Given the description of an element on the screen output the (x, y) to click on. 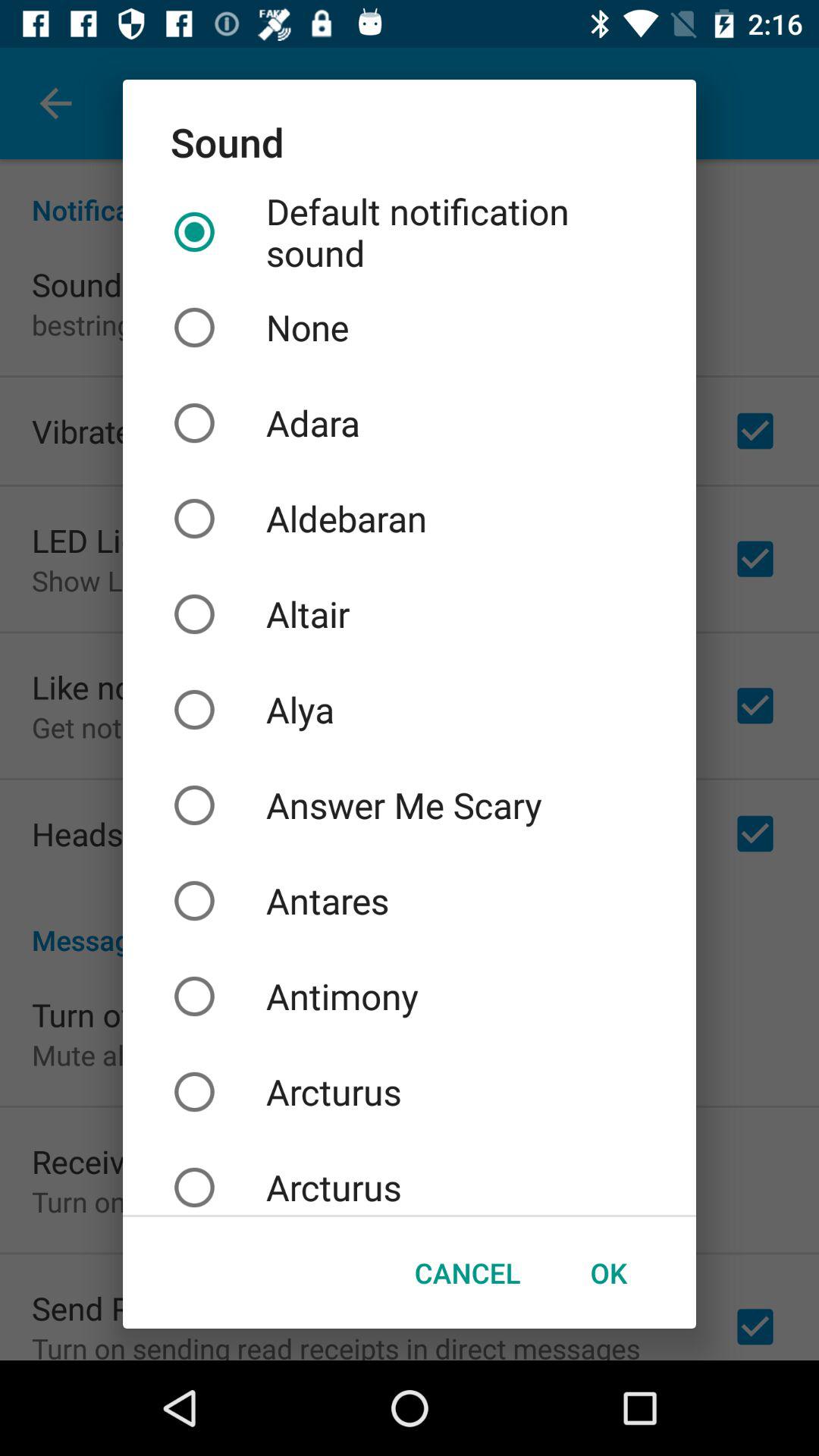
select the item next to the cancel item (608, 1272)
